Given the description of an element on the screen output the (x, y) to click on. 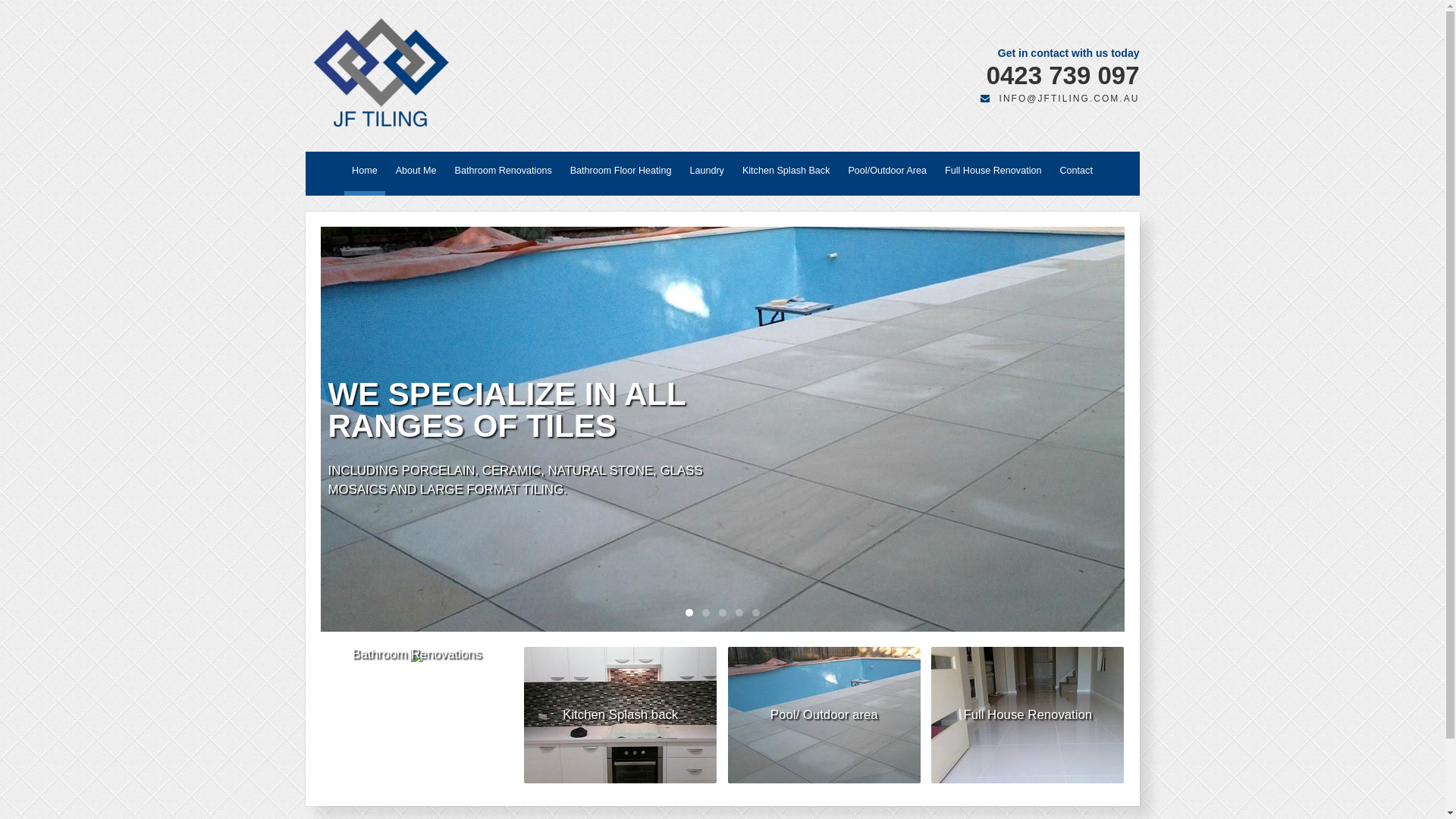
Kitchen Splash back Element type: text (620, 714)
Bathroom Renovations Element type: text (416, 654)
Full House Renovation Element type: text (1027, 714)
Kitchen Splash Back Element type: text (785, 173)
Bathroom Floor Heating Element type: text (620, 173)
Home Element type: text (364, 173)
Laundry Element type: text (706, 173)
Contact Element type: text (1075, 173)
About Me Element type: text (416, 173)
Full House Renovation Element type: text (992, 173)
INFO@JFTILING.COM.AU Element type: text (1059, 98)
Pool/ Outdoor area Element type: text (824, 714)
Bathroom Renovations Element type: text (503, 173)
Pool/Outdoor Area Element type: text (887, 173)
